Given the description of an element on the screen output the (x, y) to click on. 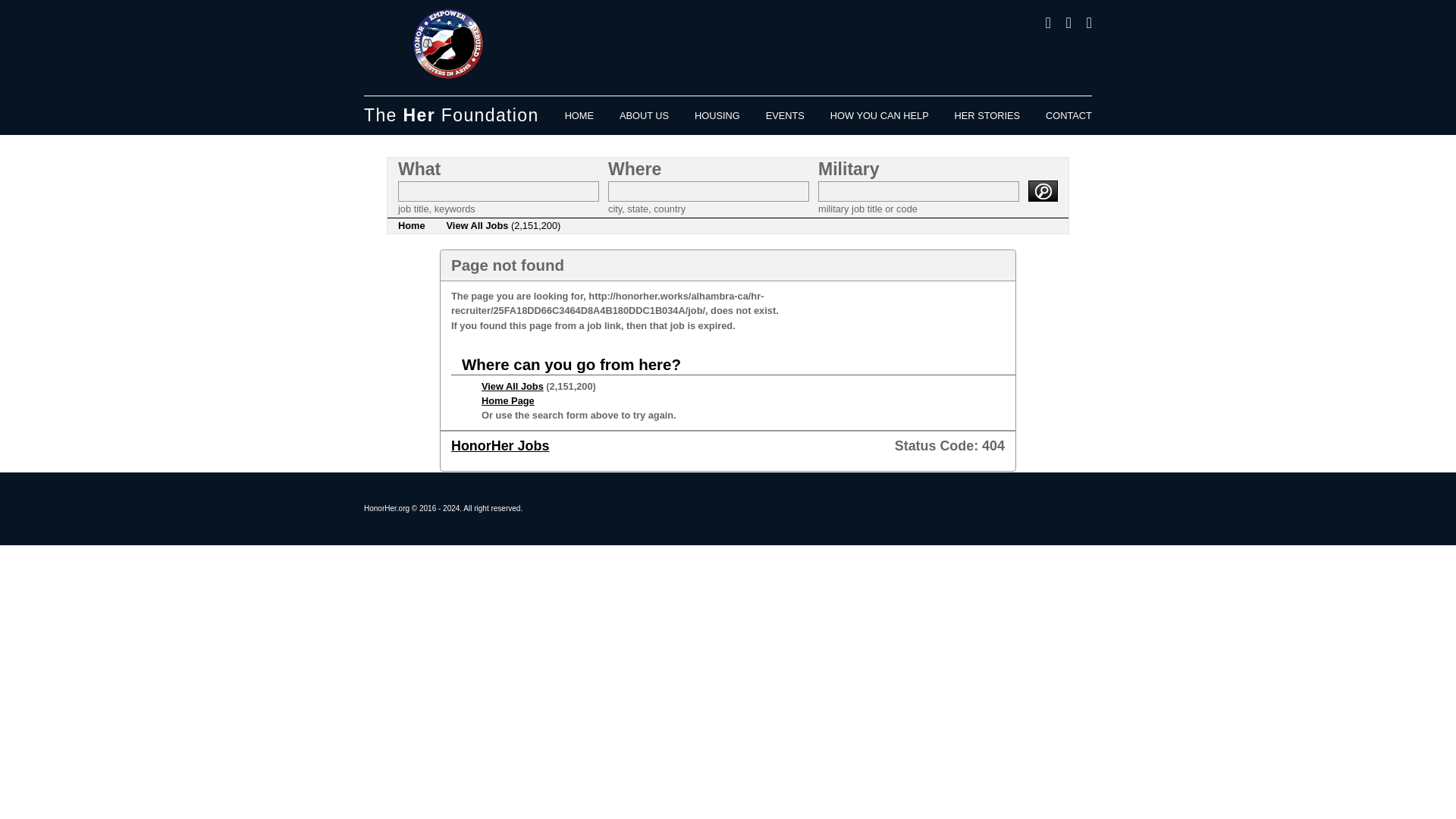
Home (411, 225)
EVENTS (785, 115)
Search MOC (918, 190)
Submit Search (1042, 190)
Search Location (708, 190)
HOW YOU CAN HELP (878, 115)
ABOUT US (644, 115)
twitter (1061, 24)
HER STORIES (987, 115)
The Her Foundation (451, 115)
HOUSING (716, 115)
facebook (1040, 24)
View All Jobs (512, 386)
Home Page (507, 400)
search (1042, 190)
